Given the description of an element on the screen output the (x, y) to click on. 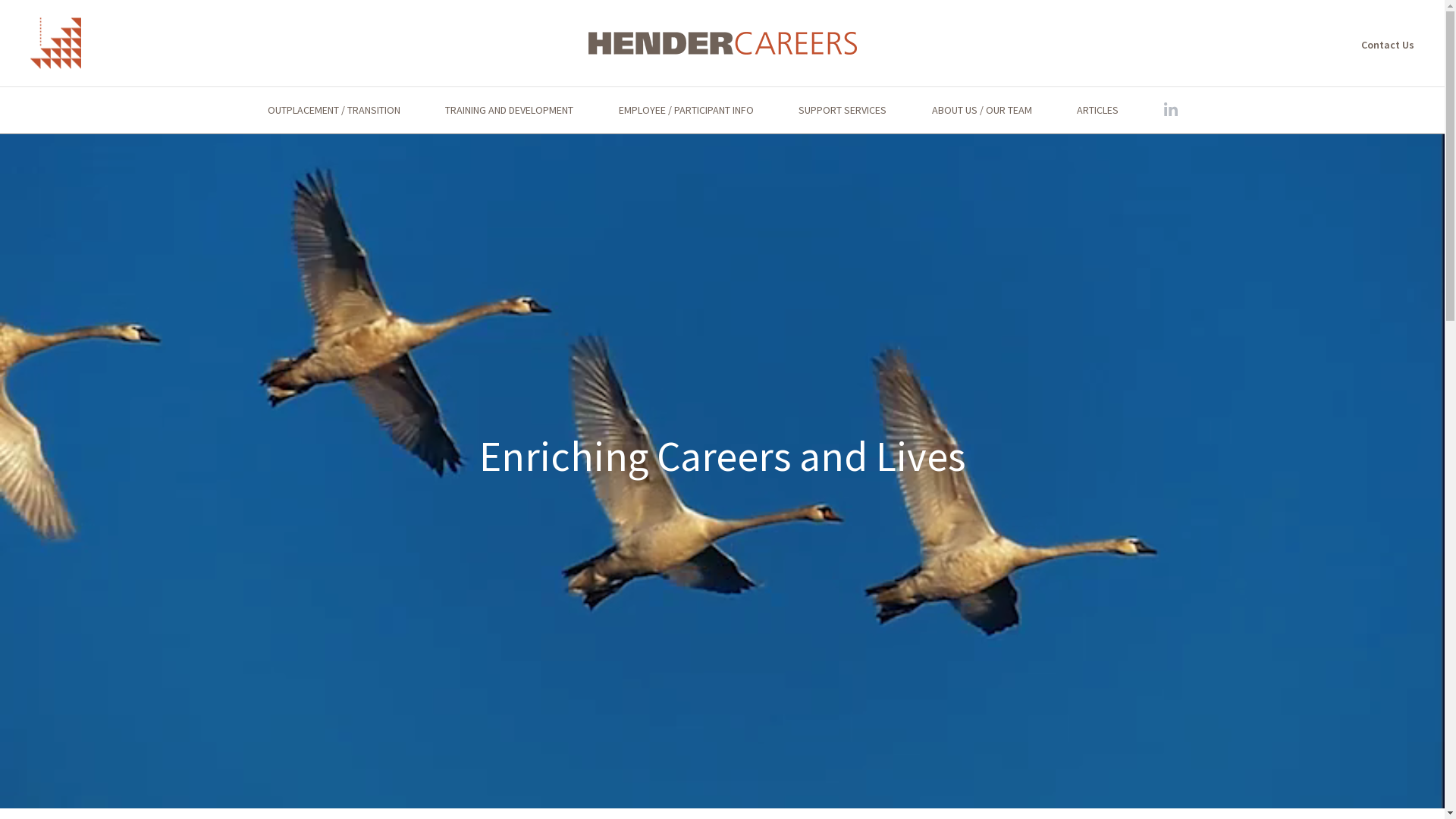
EMPLOYEE / PARTICIPANT INFO Element type: text (685, 110)
OUTPLACEMENT / TRANSITION Element type: text (332, 110)
TRAINING AND DEVELOPMENT Element type: text (509, 110)
ABOUT US / OUR TEAM Element type: text (981, 110)
SUPPORT SERVICES Element type: text (842, 110)
Contact Us Element type: text (1387, 44)
ARTICLES Element type: text (1097, 110)
